Given the description of an element on the screen output the (x, y) to click on. 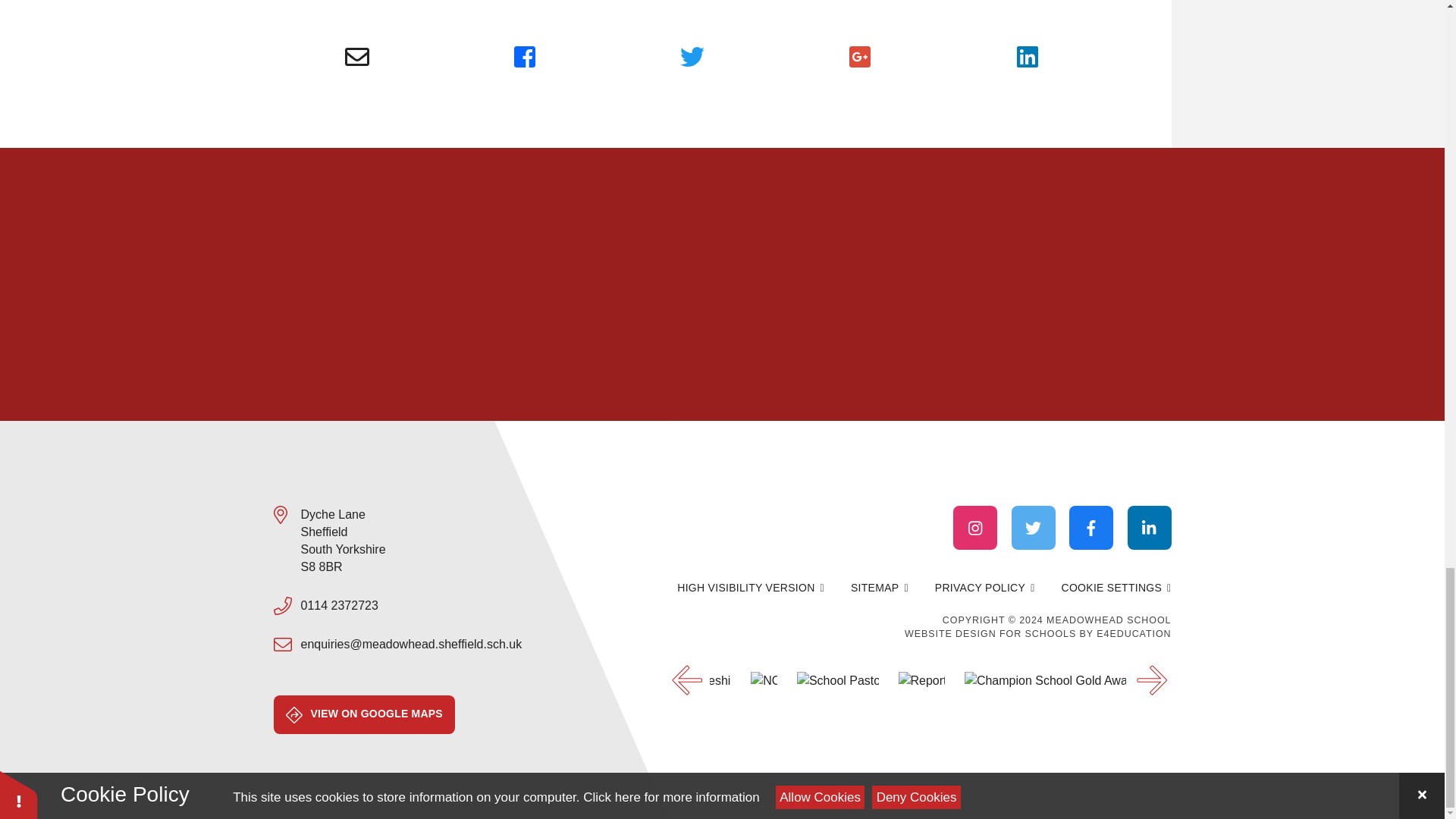
NOS (764, 680)
Report It (921, 680)
Champion School Gold Award (1044, 680)
School Pastors (837, 680)
Apprenticeships (687, 680)
Cookie Settings (1116, 587)
